Given the description of an element on the screen output the (x, y) to click on. 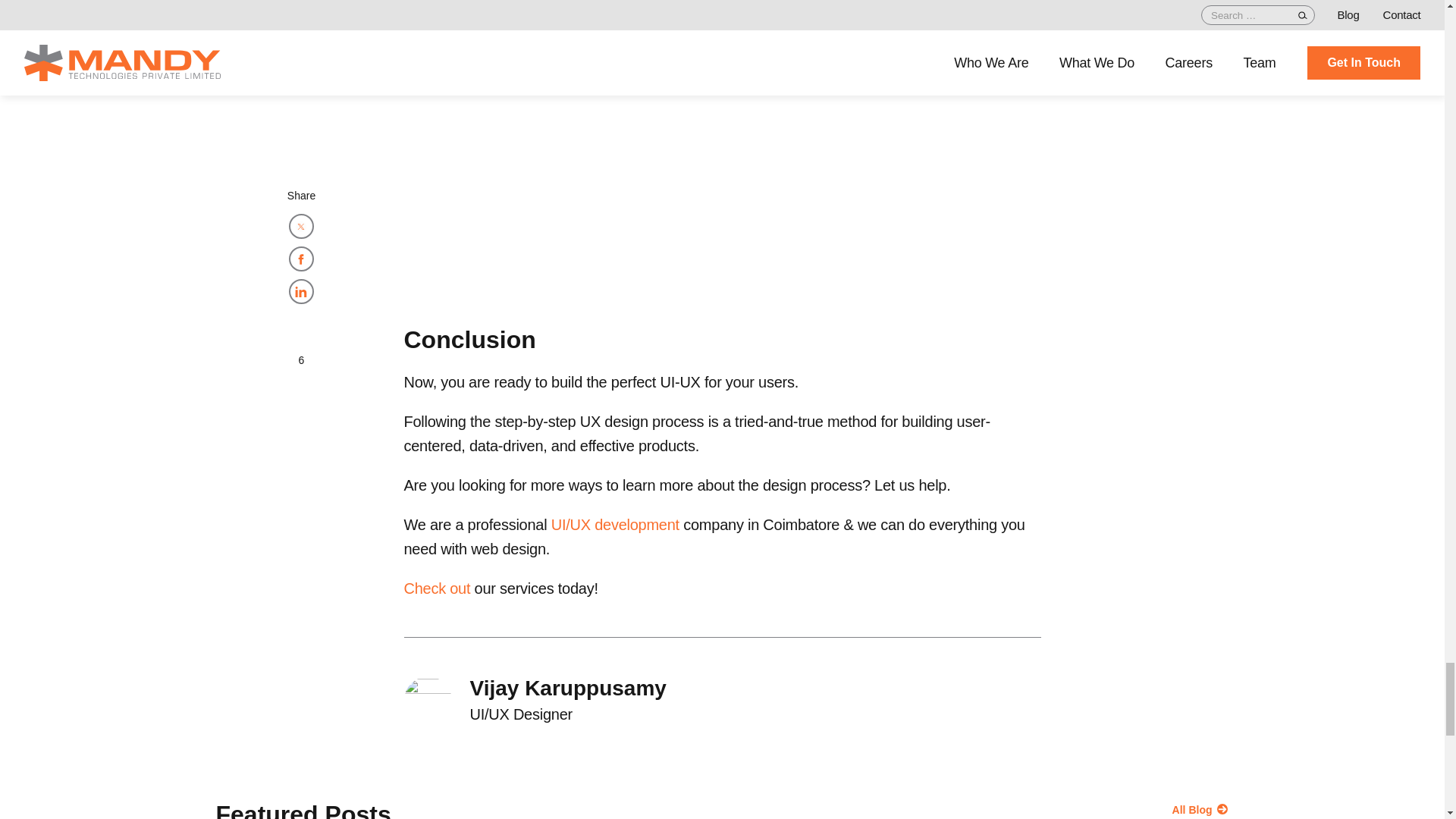
Check out (436, 588)
All Blog (963, 809)
